Given the description of an element on the screen output the (x, y) to click on. 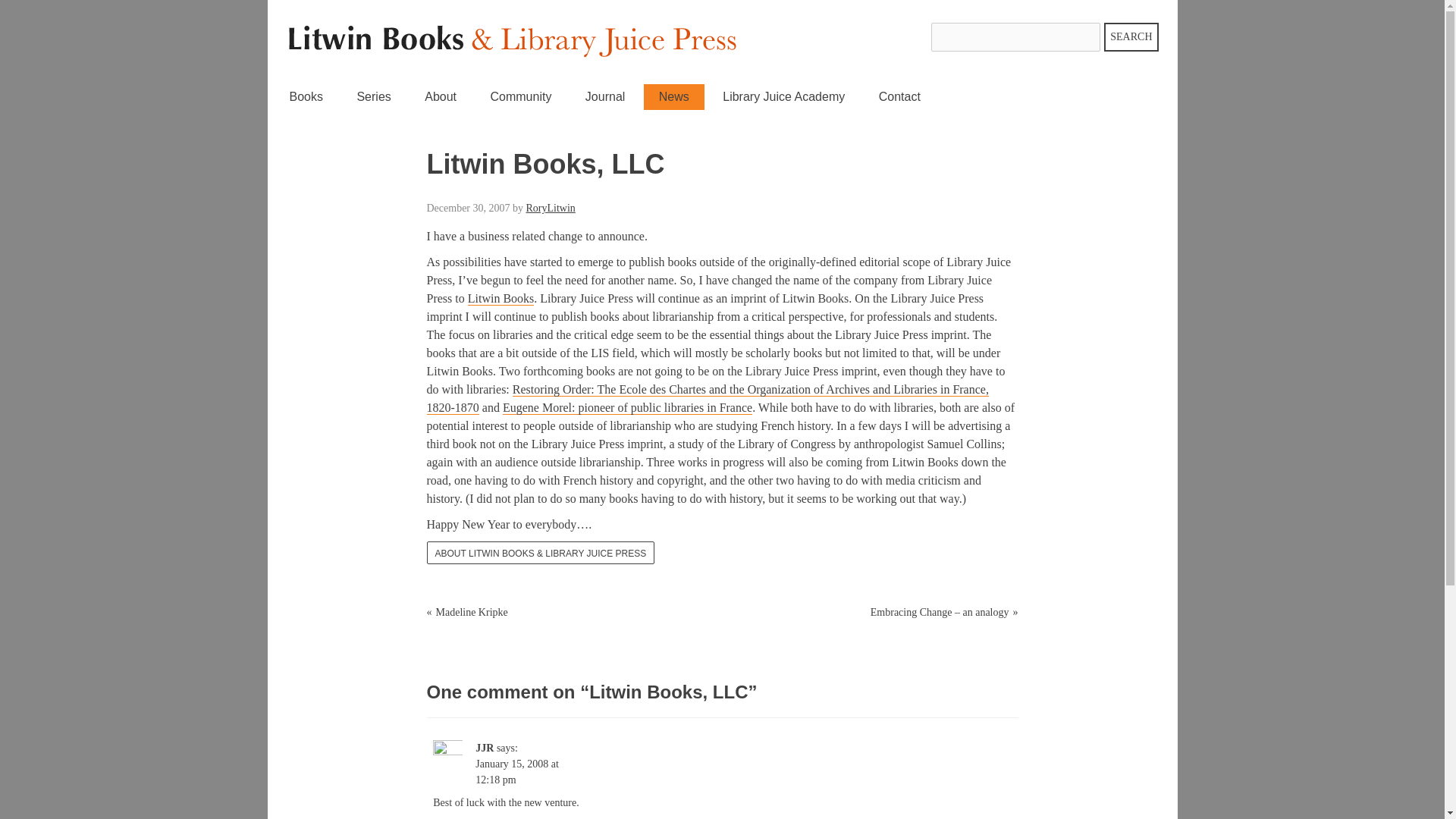
Library Juice Academy (783, 96)
RoryLitwin (550, 207)
Books (306, 96)
Eugene Morel: pioneer of public libraries in France (627, 407)
Litwin Books (500, 298)
Journal (605, 96)
SEARCH (1130, 36)
Contact (899, 96)
Community (520, 96)
